Given the description of an element on the screen output the (x, y) to click on. 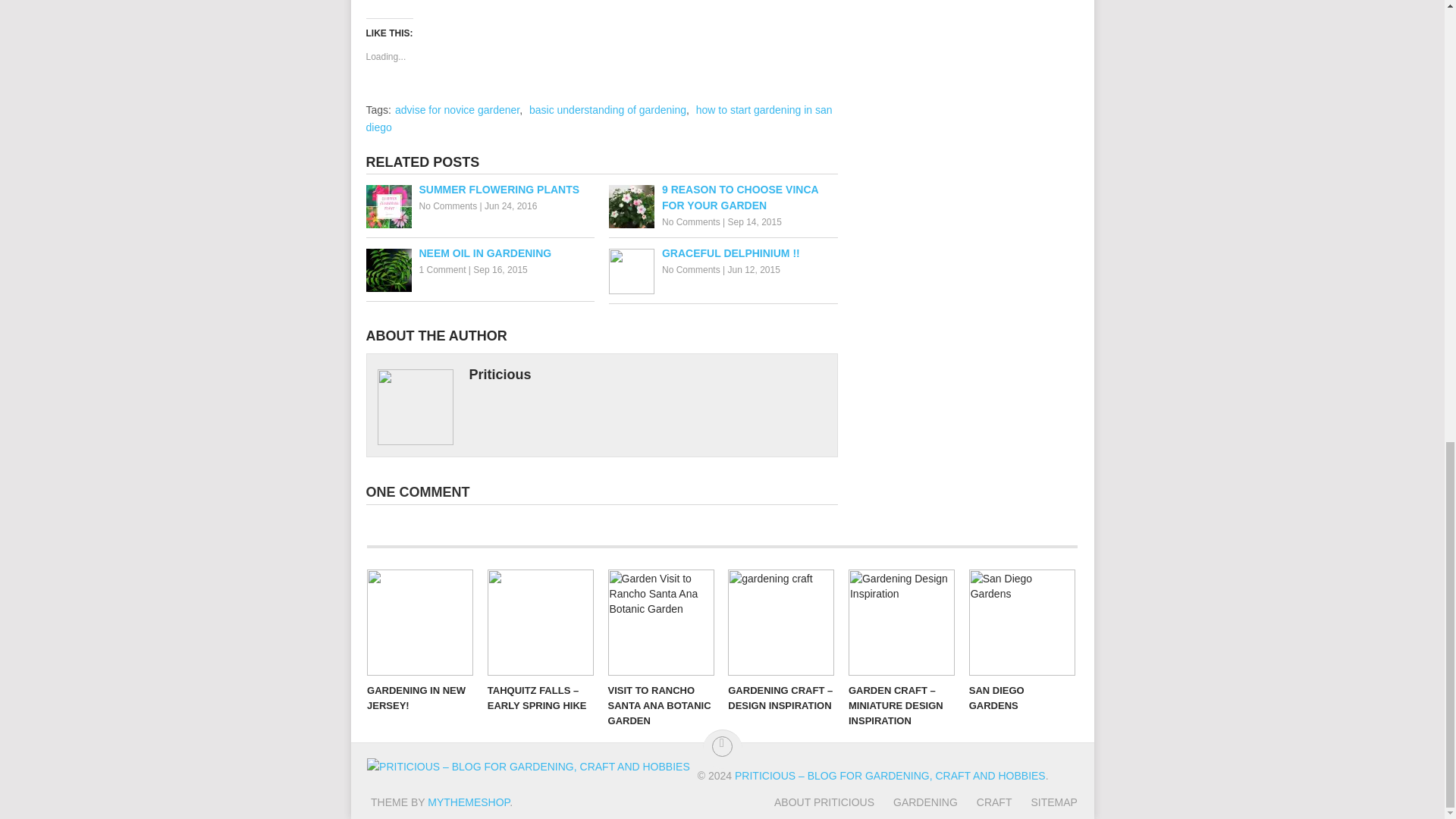
No Comments (691, 269)
basic understanding of gardening (607, 110)
SUMMER FLOWERING PLANTS (479, 189)
9 REASON TO CHOOSE VINCA FOR YOUR GARDEN (723, 197)
GRACEFUL DELPHINIUM !! (723, 253)
No Comments (691, 222)
Summer flowering plants (479, 189)
NEEM OIL IN GARDENING (479, 253)
Neem Oil In Gardening (479, 253)
9 reason to choose Vinca for your garden (723, 197)
